Given the description of an element on the screen output the (x, y) to click on. 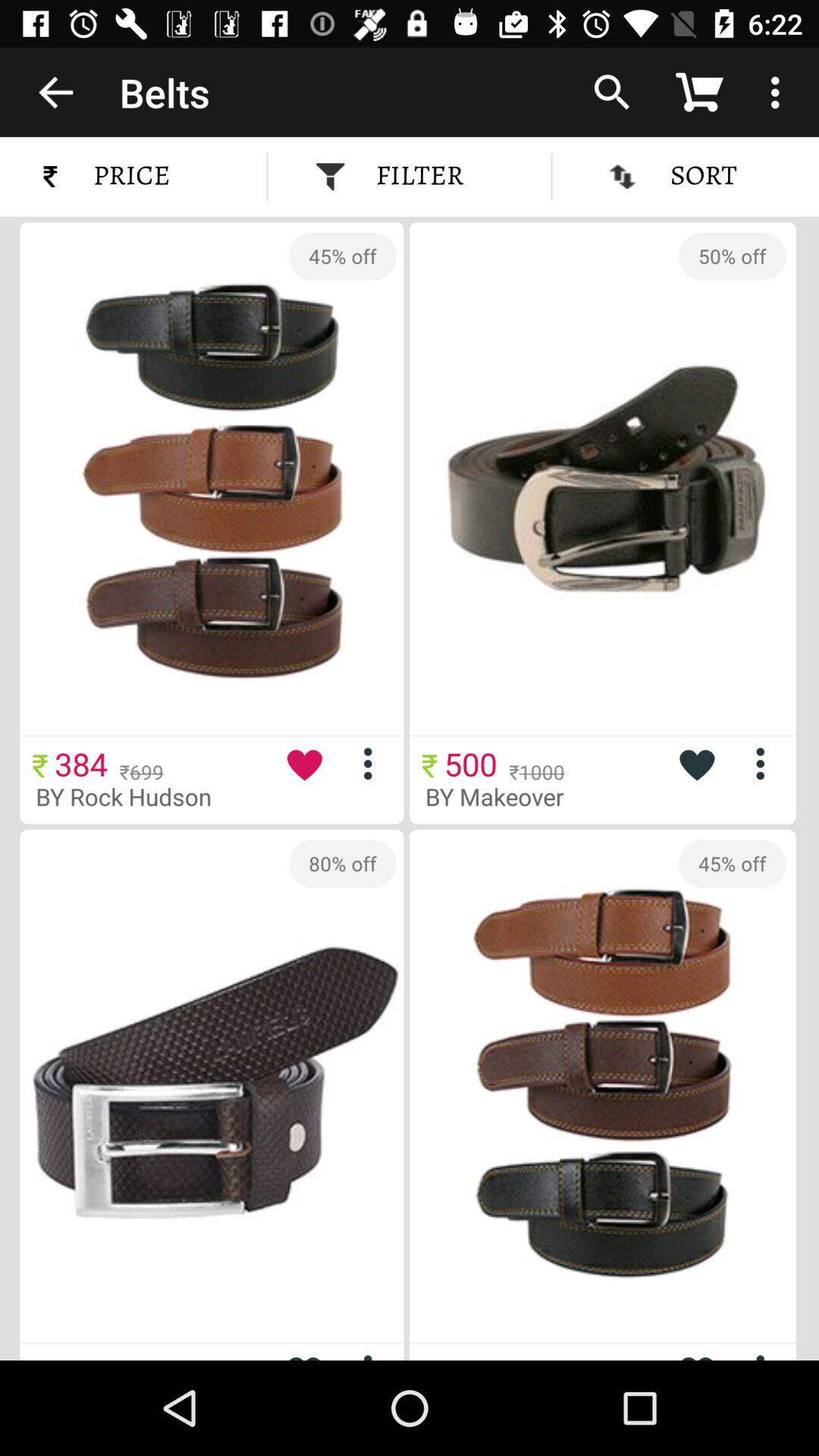
more options (304, 1351)
